Given the description of an element on the screen output the (x, y) to click on. 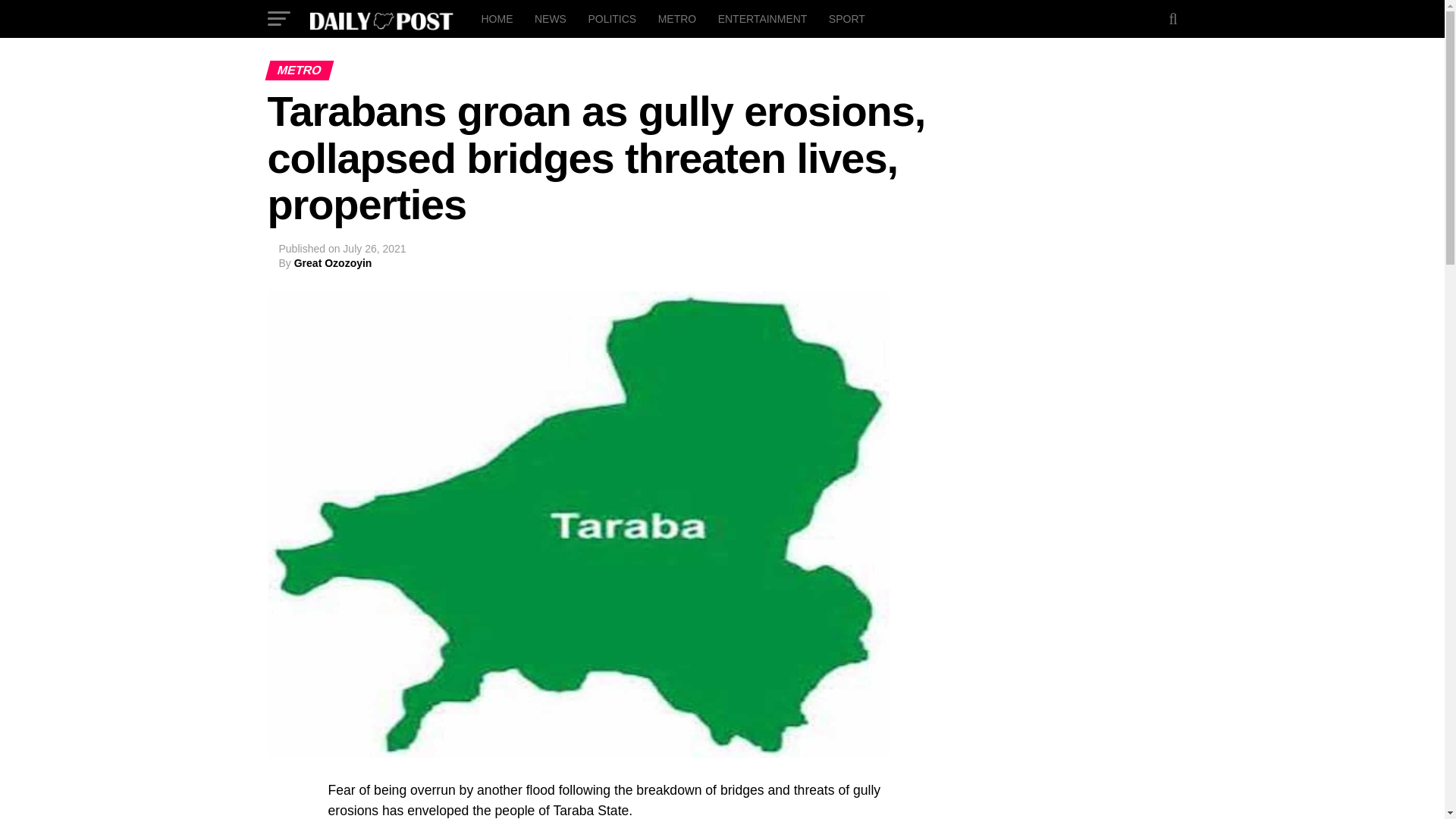
SPORT (847, 18)
NEWS (550, 18)
HOME (496, 18)
ENTERTAINMENT (762, 18)
METRO (677, 18)
Great Ozozoyin (333, 263)
POLITICS (611, 18)
Posts by Great Ozozoyin (333, 263)
